Given the description of an element on the screen output the (x, y) to click on. 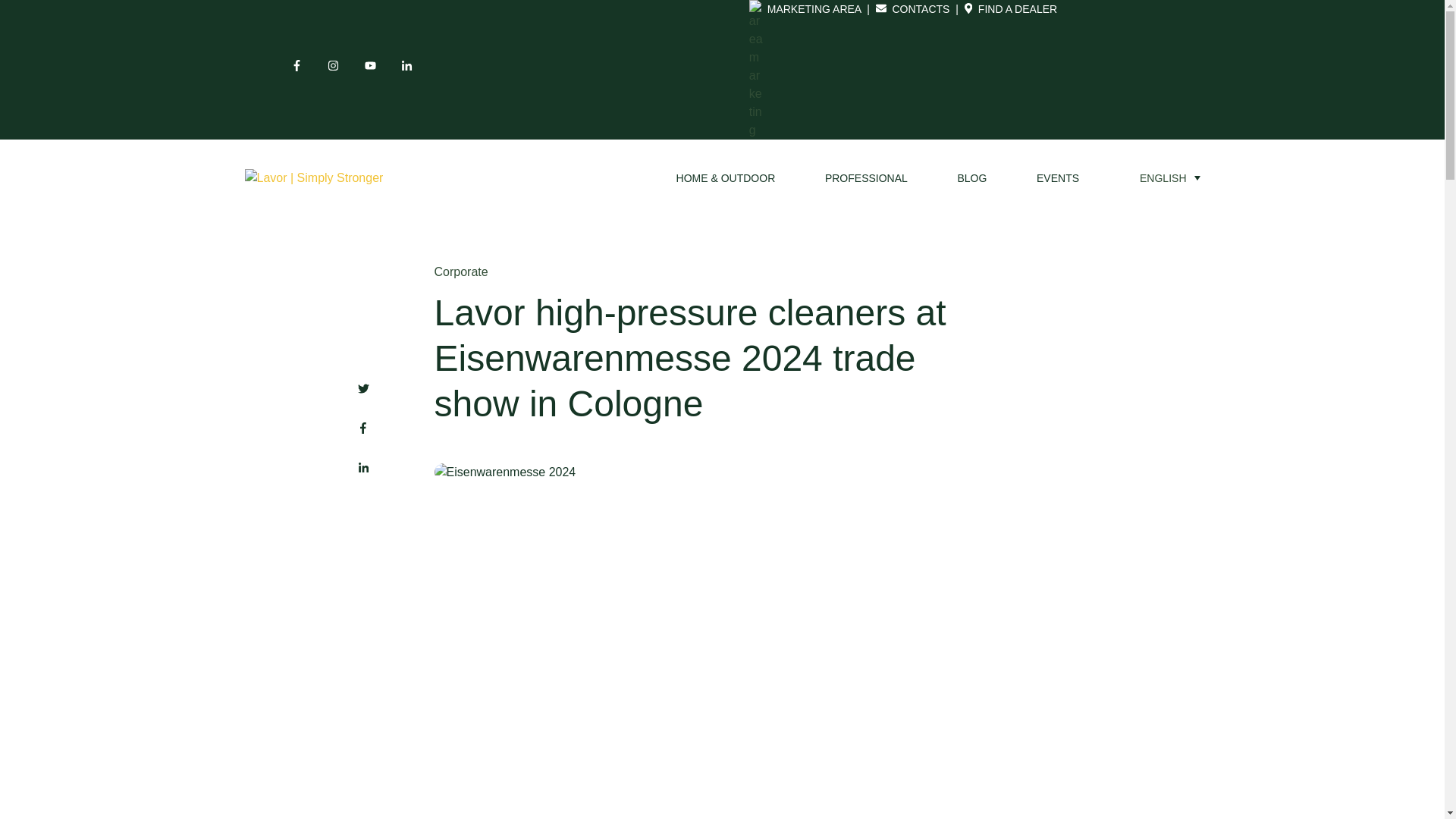
Share this blog post on Facebook (362, 428)
BLOG (971, 177)
Seguici su LinkedIn (411, 69)
Seguici su Facebook (300, 69)
Seguici su Instagram (333, 65)
FIND A DEALER (1016, 9)
MARKETING AREA (814, 9)
EVENTS (1057, 177)
Share this blog post on Twitter (363, 389)
Seguici su Facebook (296, 65)
Seguici su Instagram (337, 69)
Corporate (460, 271)
Seguici su YouTube (374, 69)
Seguici su YouTube (370, 65)
Share this blog post on LinkedIn (363, 466)
